Given the description of an element on the screen output the (x, y) to click on. 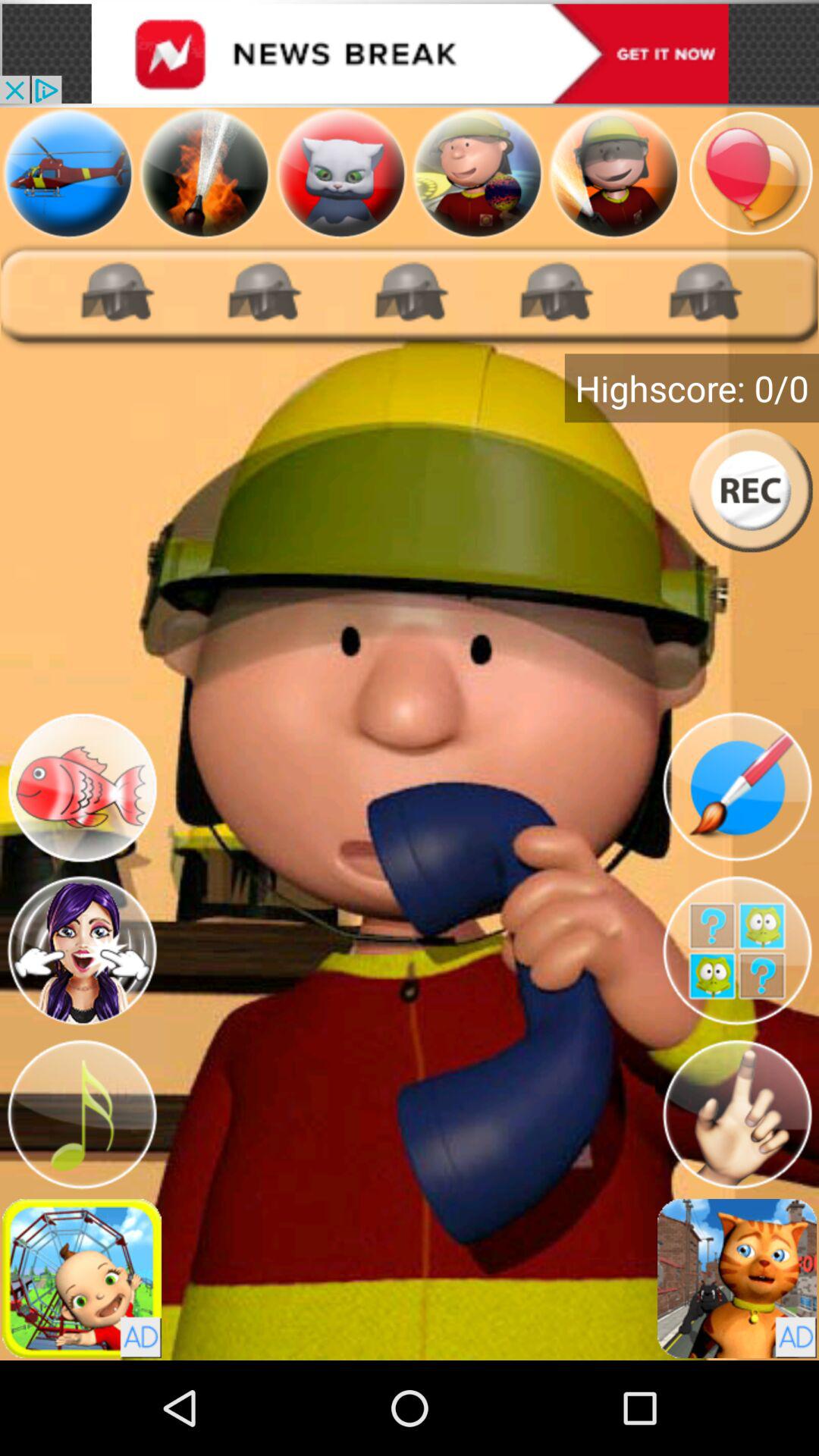
firefighter games (204, 173)
